Given the description of an element on the screen output the (x, y) to click on. 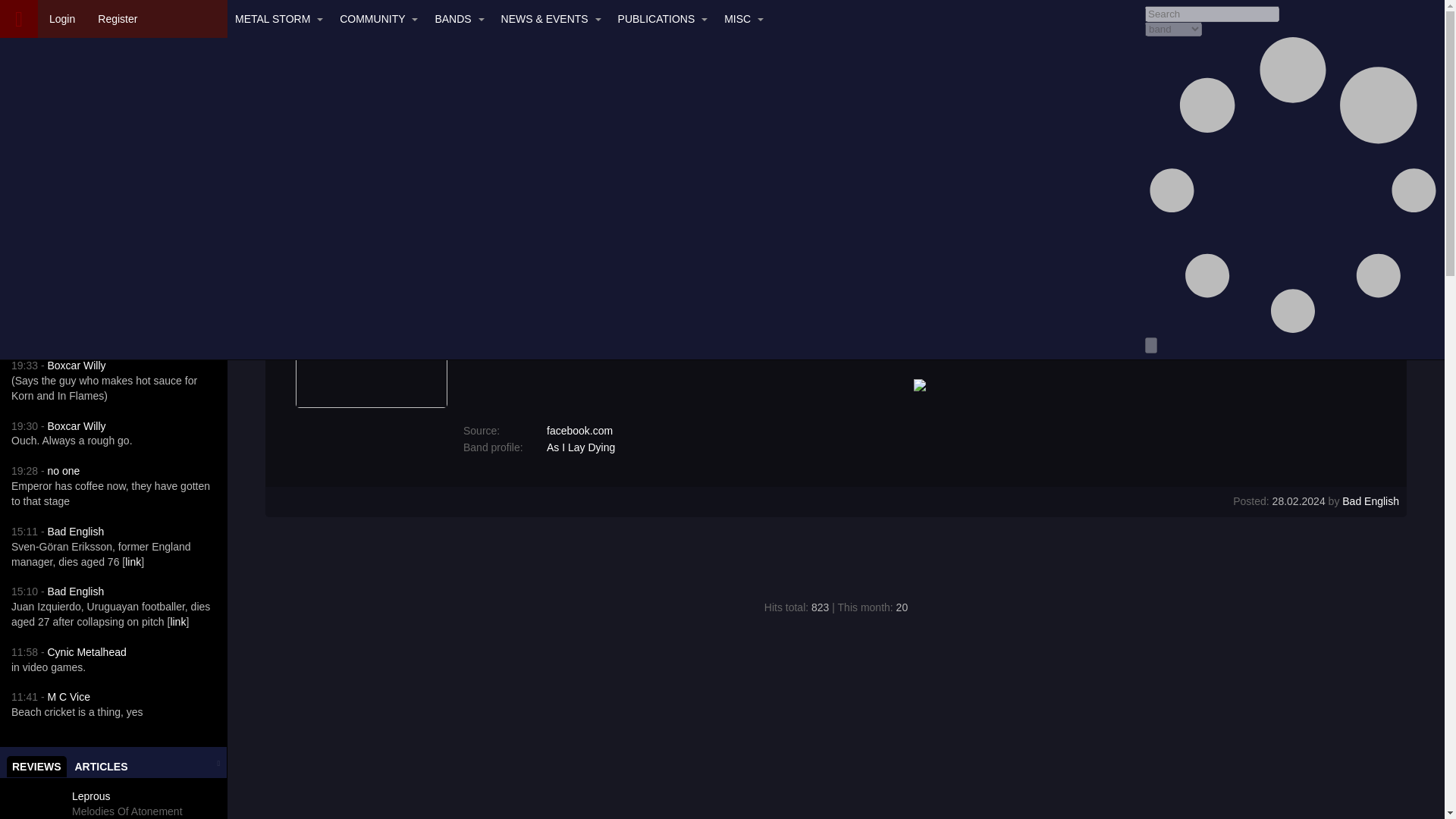
Register (116, 18)
with Kob (167, 251)
METAL STORM (275, 18)
BANDS (455, 18)
with Mark Deeks (127, 803)
with N.C. (59, 189)
Login (59, 251)
COMMUNITY (61, 18)
